Given the description of an element on the screen output the (x, y) to click on. 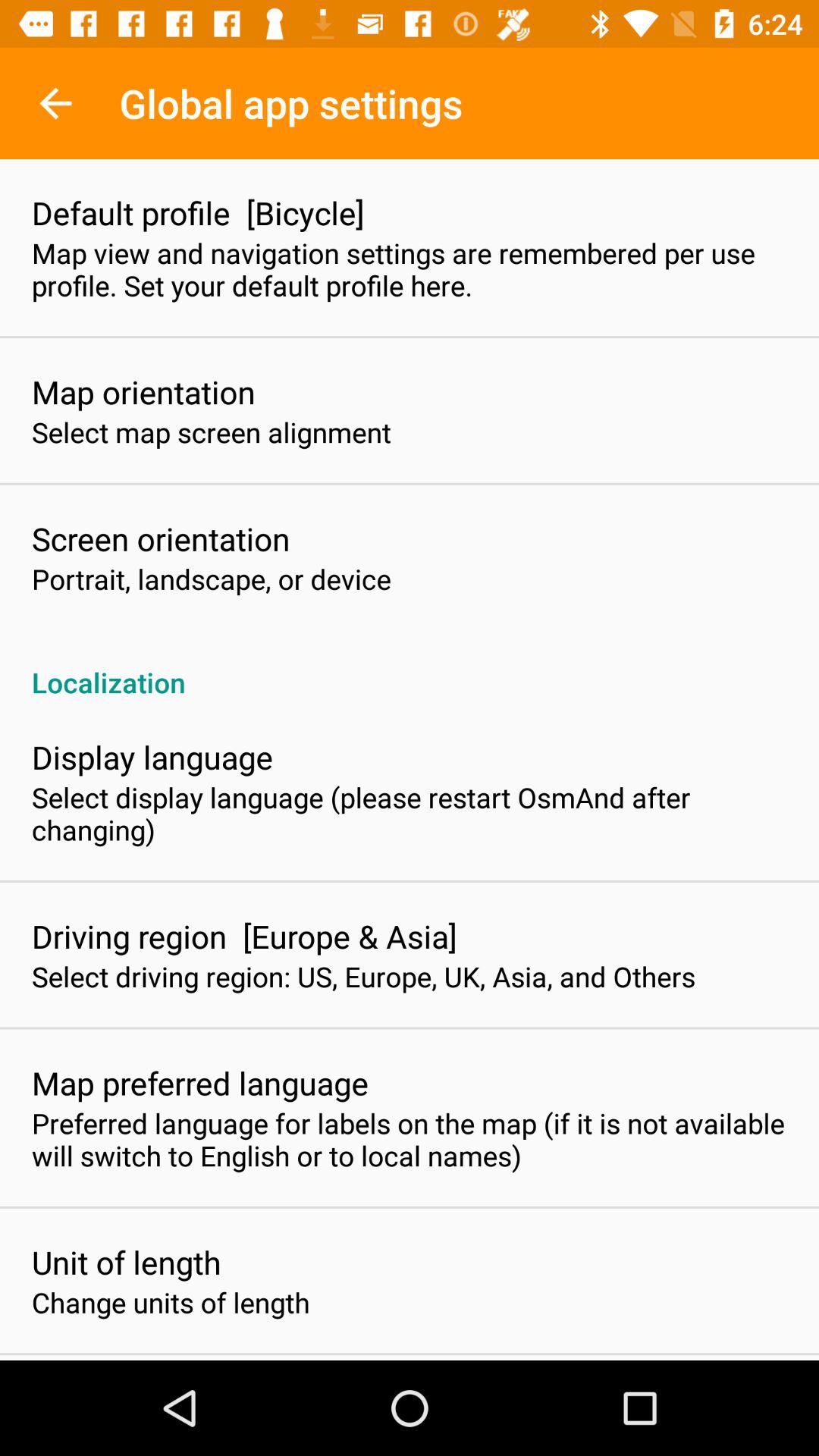
turn on the icon below the map orientation (211, 432)
